Given the description of an element on the screen output the (x, y) to click on. 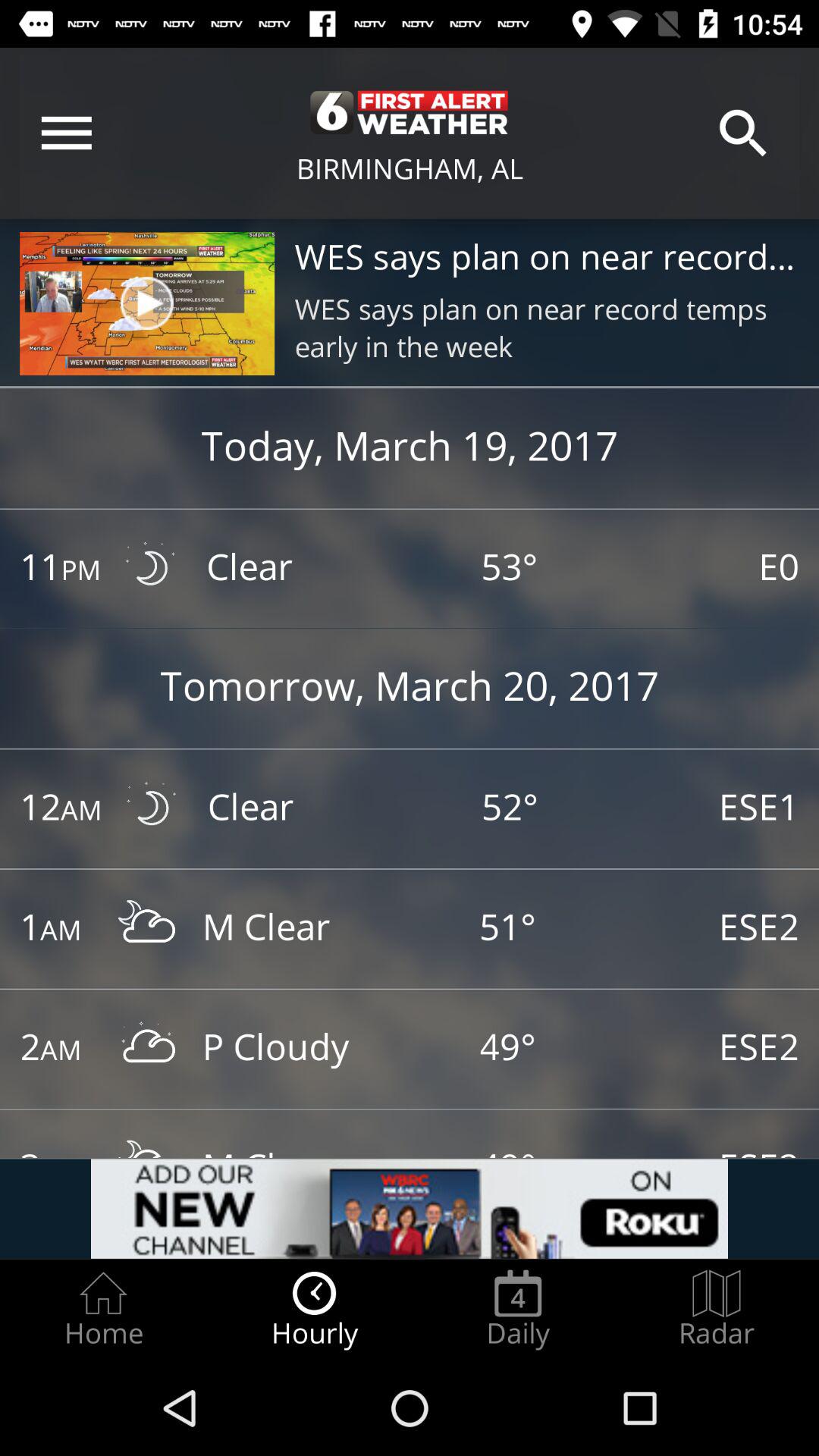
open icon to the left of the radar icon (518, 1309)
